Given the description of an element on the screen output the (x, y) to click on. 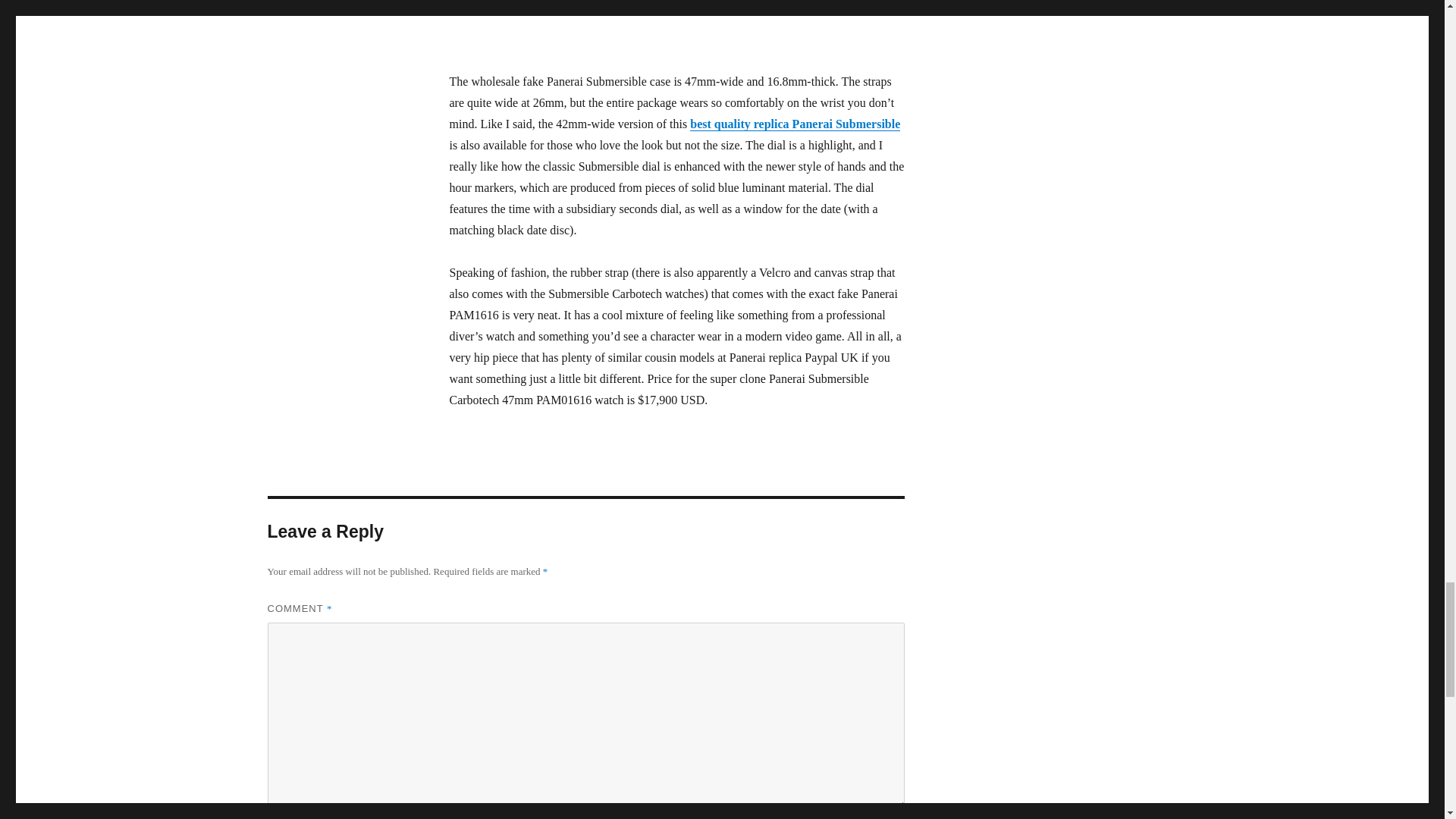
best quality replica Panerai Submersible (794, 123)
